Given the description of an element on the screen output the (x, y) to click on. 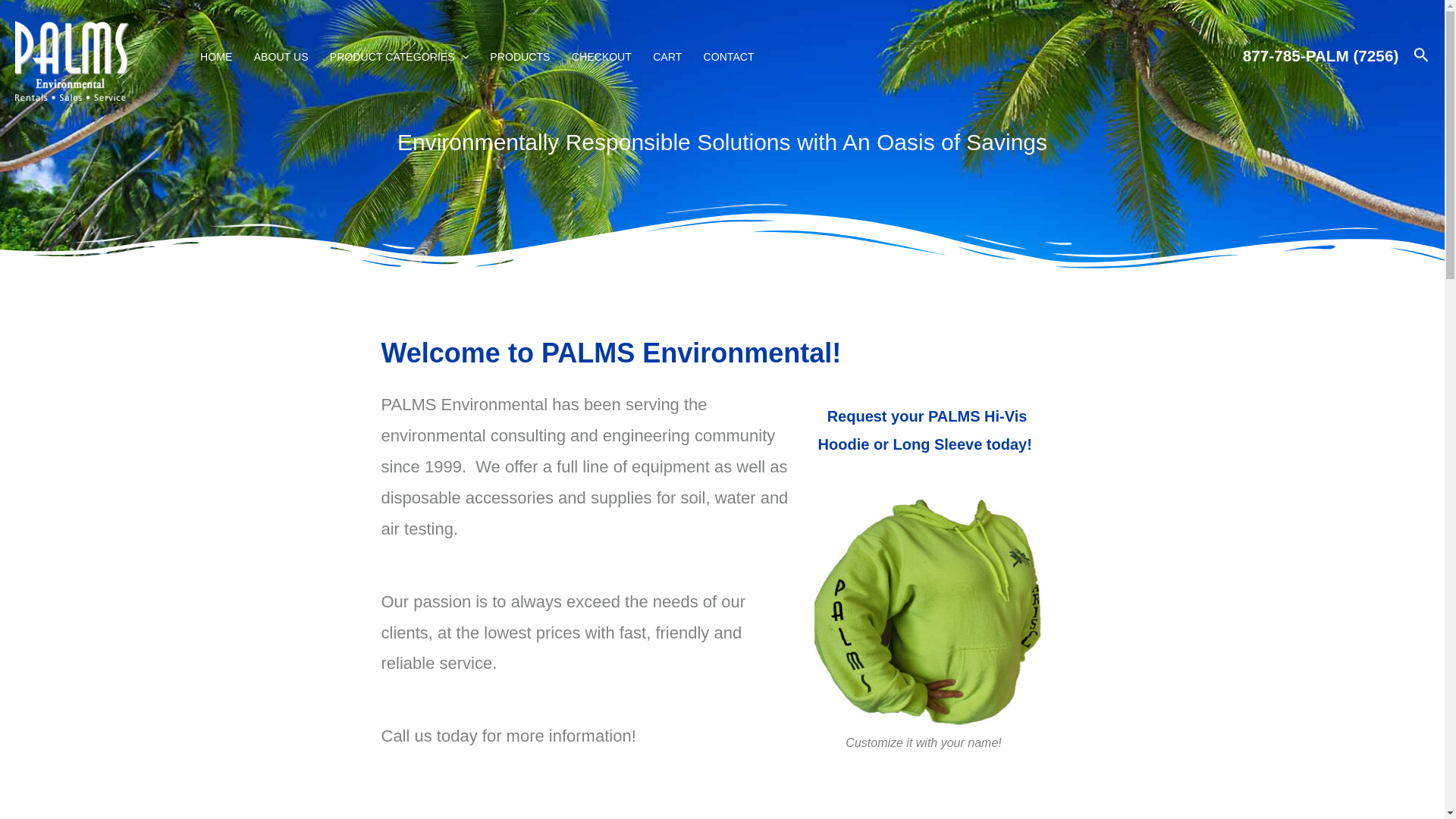
PRODUCTS (519, 56)
CART (667, 56)
CHECKOUT (601, 56)
ABOUT US (280, 56)
PRODUCT CATEGORIES (399, 56)
CONTACT (728, 56)
HOME (216, 56)
